Given the description of an element on the screen output the (x, y) to click on. 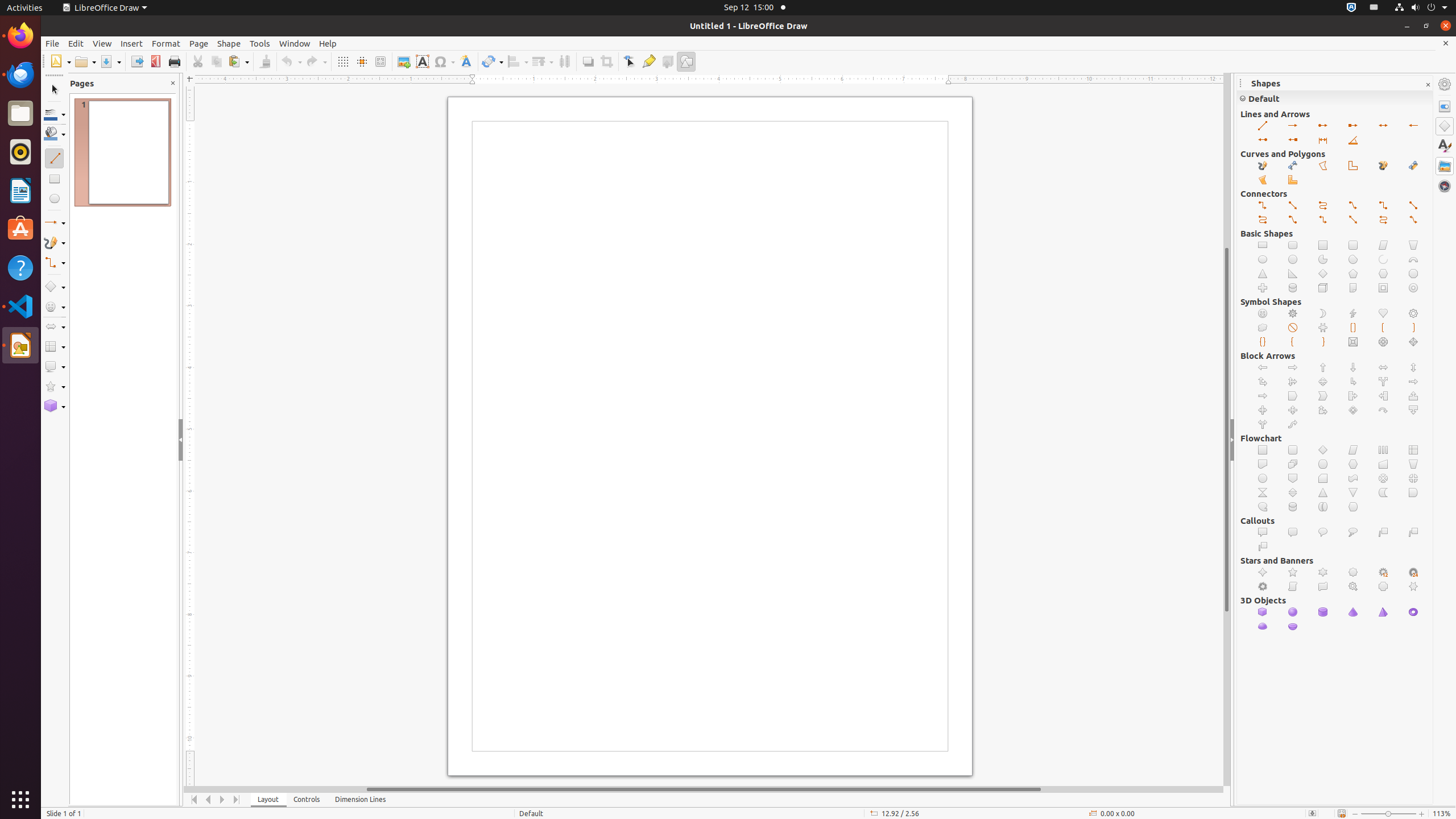
Up, Right and Down Arrow Element type: list-item (1292, 381)
Pentagon Element type: list-item (1292, 396)
Layout Element type: page-tab (268, 799)
Folded Corner Element type: list-item (1353, 287)
View Element type: menu (102, 43)
